Given the description of an element on the screen output the (x, y) to click on. 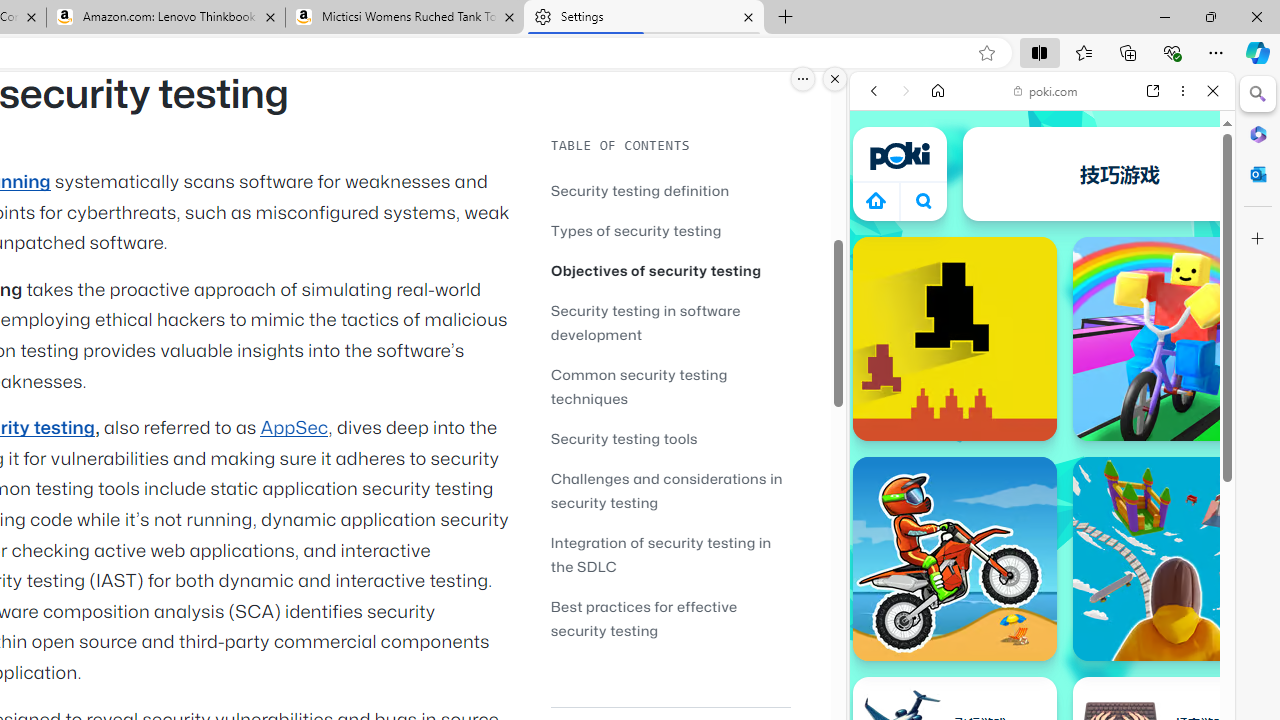
Open link in new tab (1153, 91)
Poki - Free Online Games - Play Now! (1034, 309)
Outlook (1258, 174)
Shooting Games (1042, 519)
Close (1213, 91)
Search Filter, Search Tools (1093, 228)
Security testing in software development (645, 321)
Car Games (1042, 469)
Moto X3M (954, 558)
Moto X3M Moto X3M (954, 558)
Browser essentials (1171, 52)
New Tab (785, 17)
Add this page to favorites (Ctrl+D) (986, 53)
Forward (906, 91)
This site scope (936, 180)
